Given the description of an element on the screen output the (x, y) to click on. 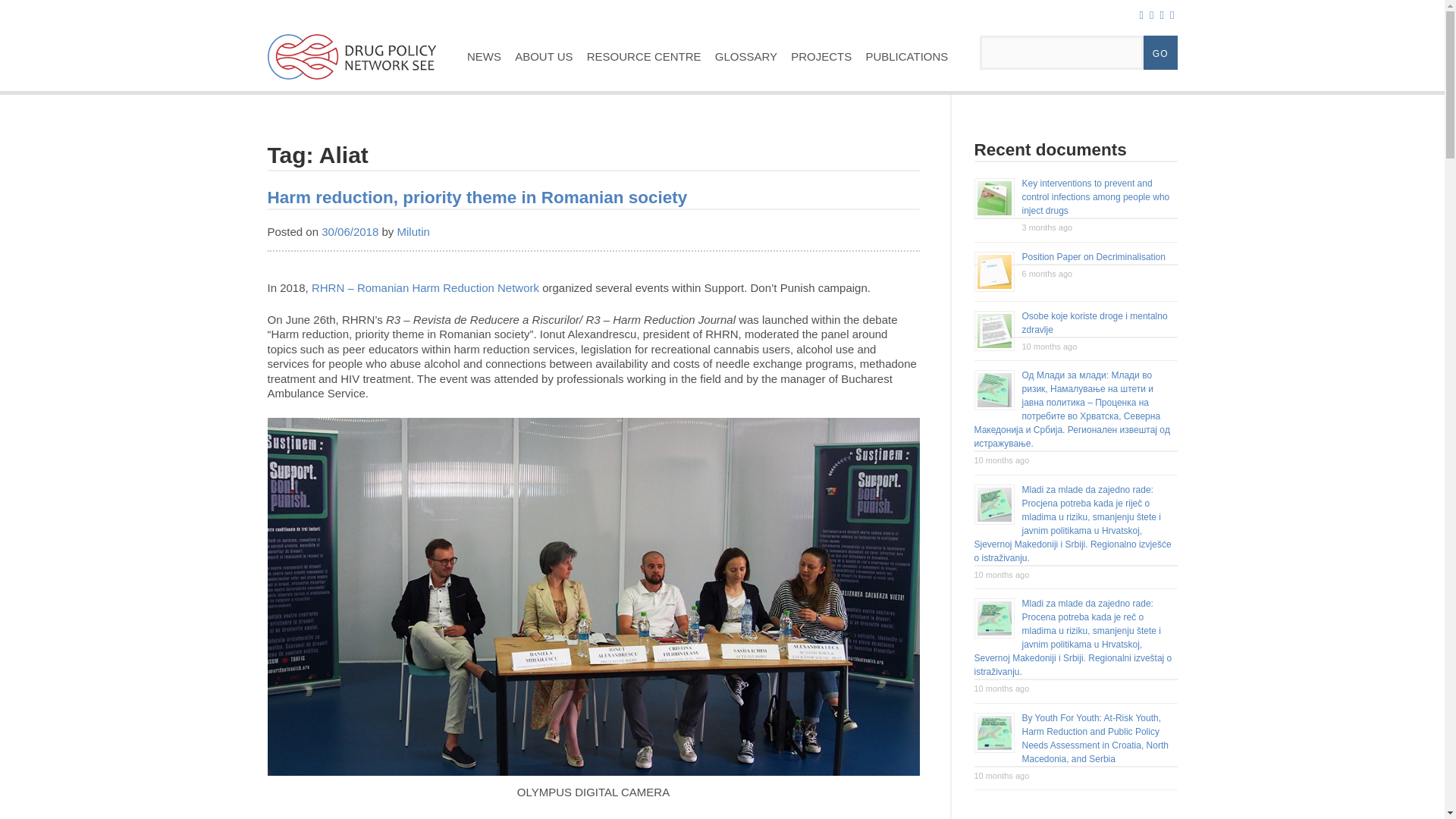
PUBLICATIONS (906, 56)
Permalink to Osobe koje koriste droge i mentalno zdravlje (1094, 322)
Drug Policy Network SEE (350, 82)
RESOURCE CENTRE (643, 56)
NEWS (483, 56)
GLOSSARY (746, 56)
Permalink to Position Paper on Decriminalisation (1094, 256)
